Given the description of an element on the screen output the (x, y) to click on. 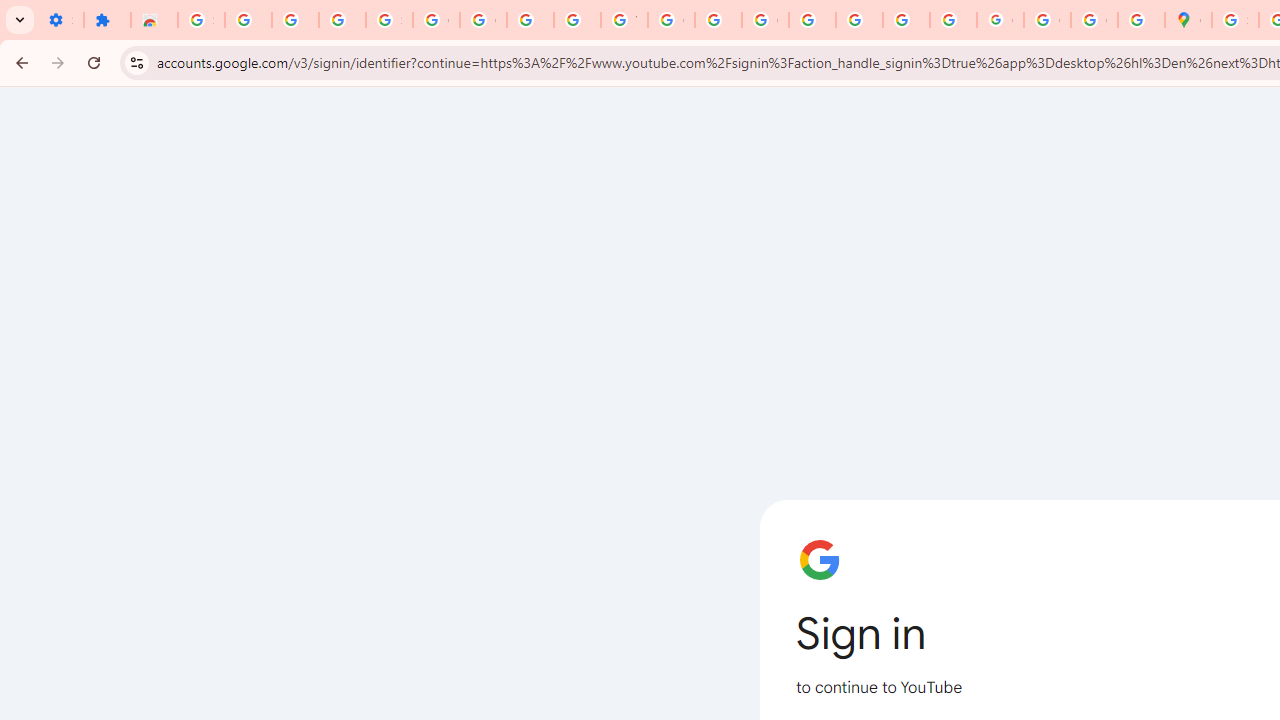
https://scholar.google.com/ (718, 20)
Sign in - Google Accounts (389, 20)
Sign in - Google Accounts (1235, 20)
